Given the description of an element on the screen output the (x, y) to click on. 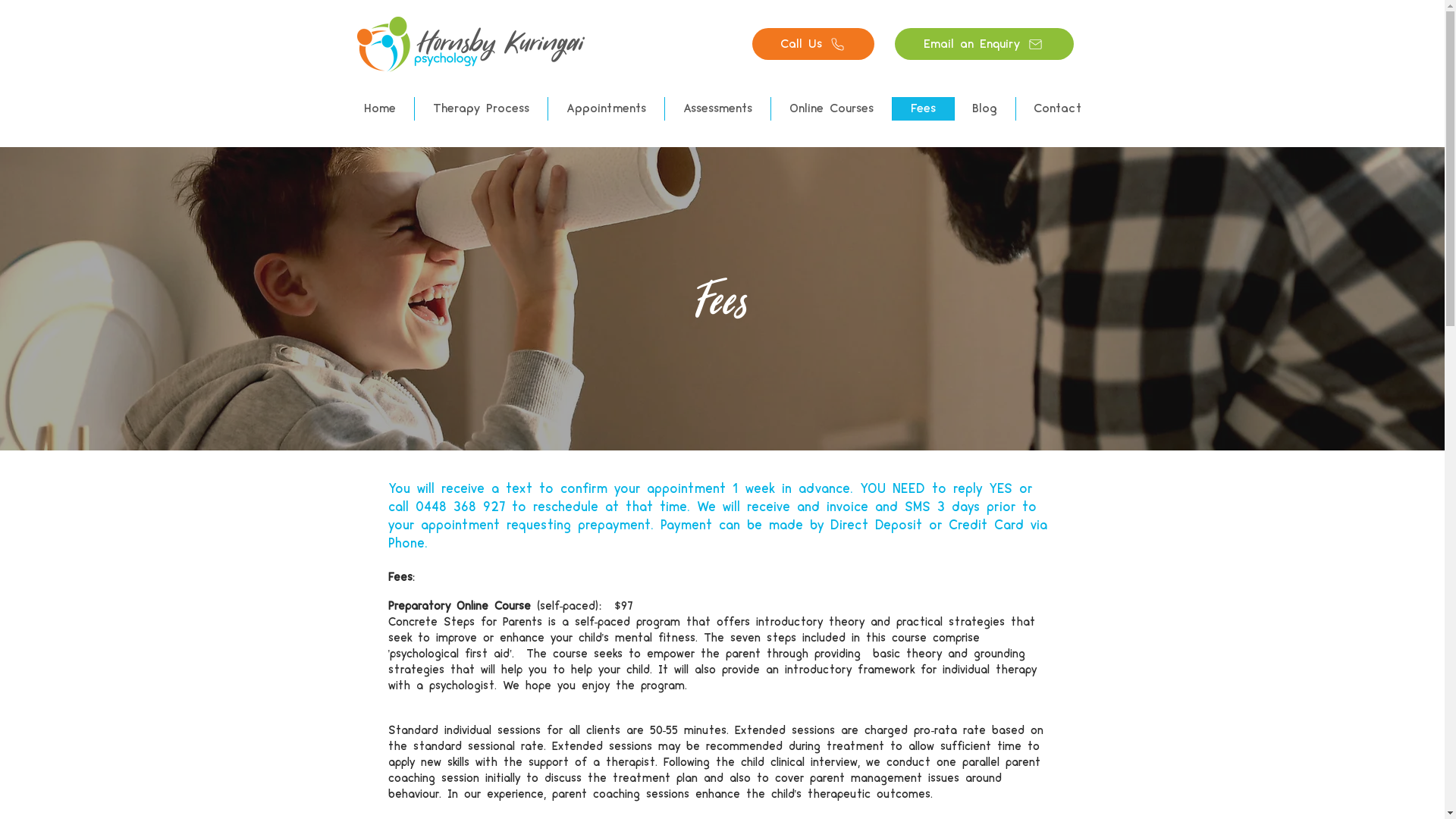
Appointments Element type: text (605, 108)
Blog Element type: text (984, 108)
Therapy Process Element type: text (480, 108)
Assessments Element type: text (717, 108)
Call Us Element type: text (813, 43)
Online Courses Element type: text (830, 108)
Home Element type: text (379, 108)
Contact Element type: text (1056, 108)
Fees Element type: text (922, 108)
Email an Enquiry Element type: text (983, 43)
